Given the description of an element on the screen output the (x, y) to click on. 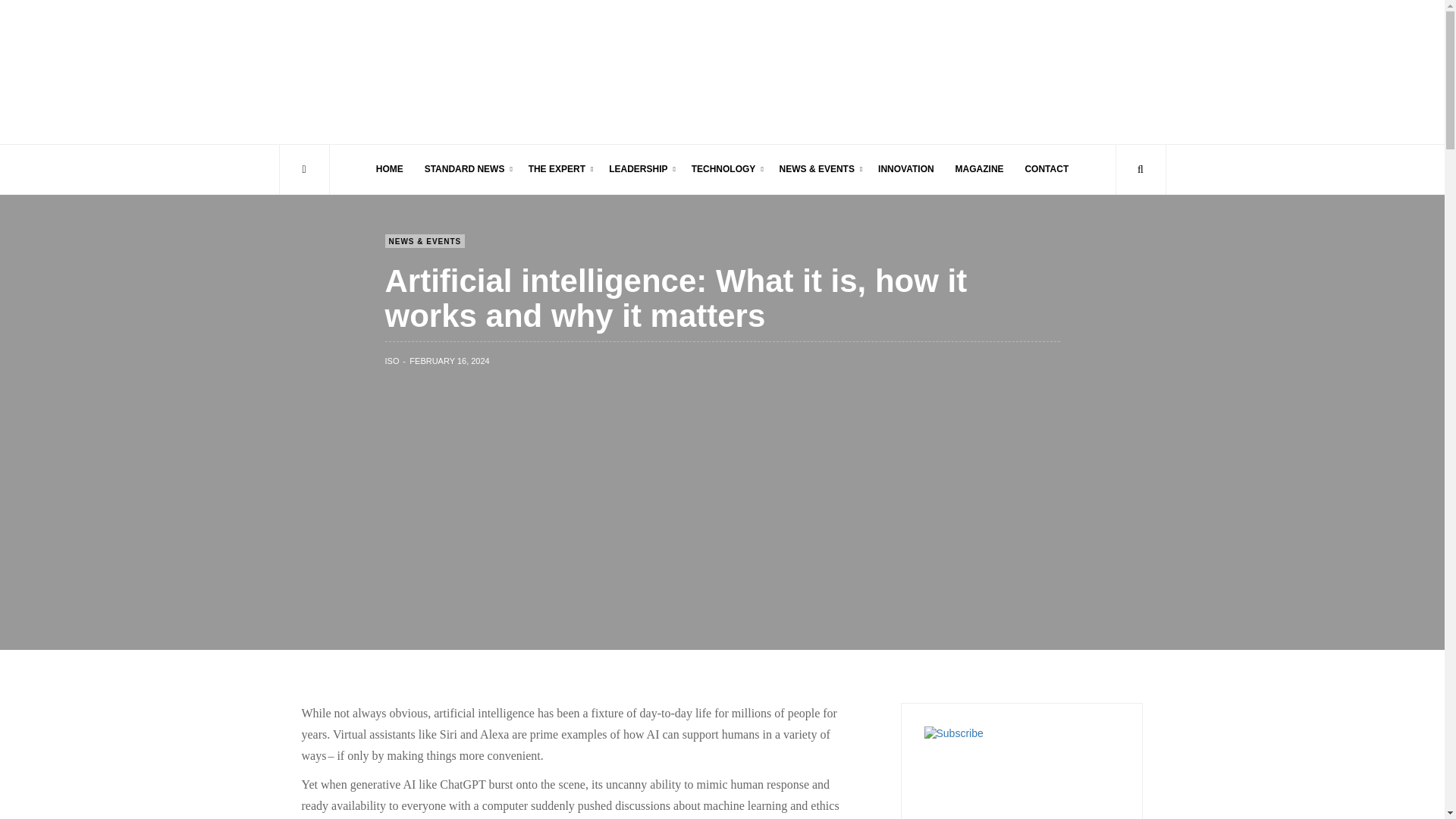
HOME (389, 169)
THE EXPERT (557, 169)
STANDARD NEWS (465, 169)
